Given the description of an element on the screen output the (x, y) to click on. 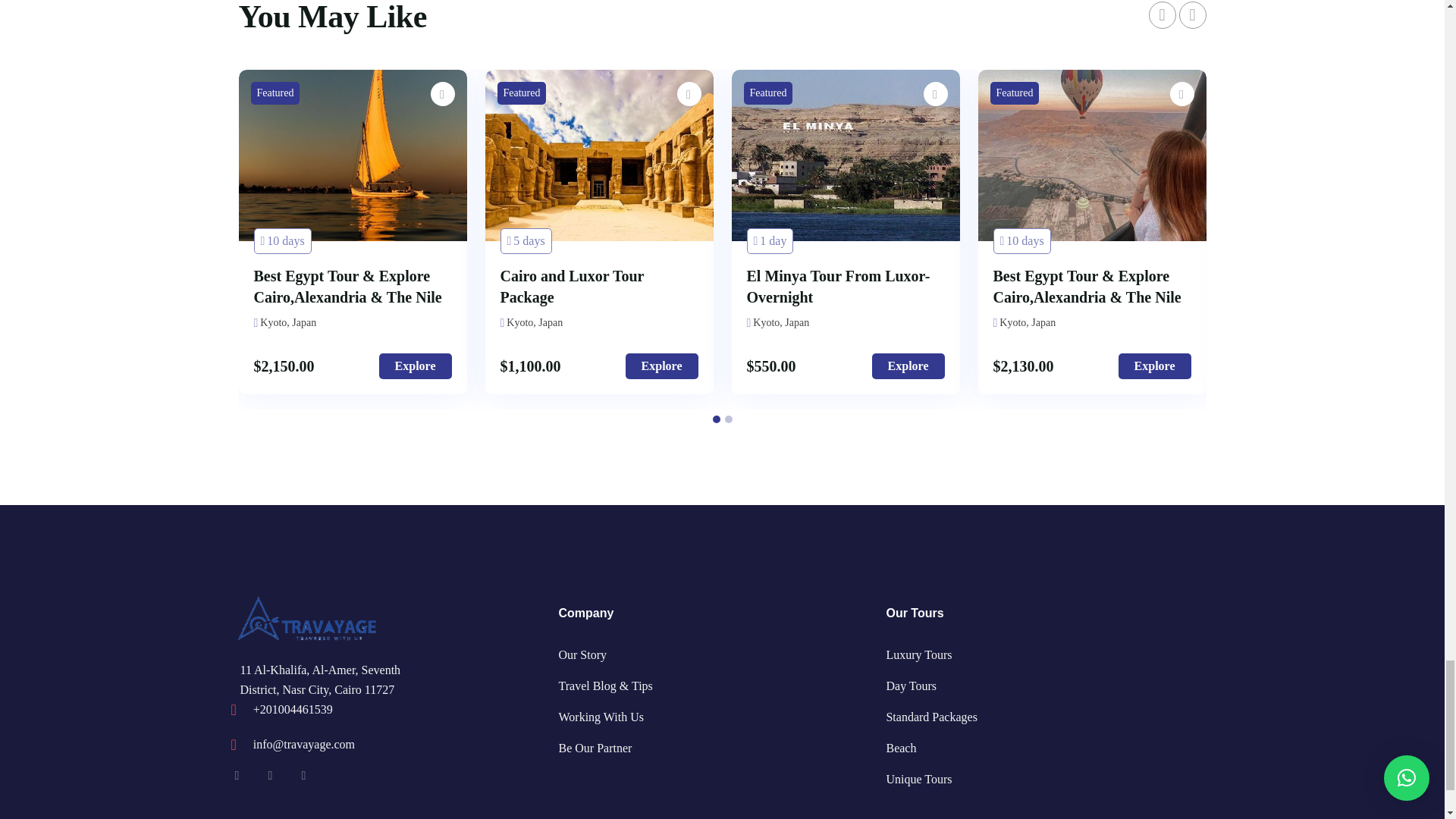
Previous (1161, 14)
